Given the description of an element on the screen output the (x, y) to click on. 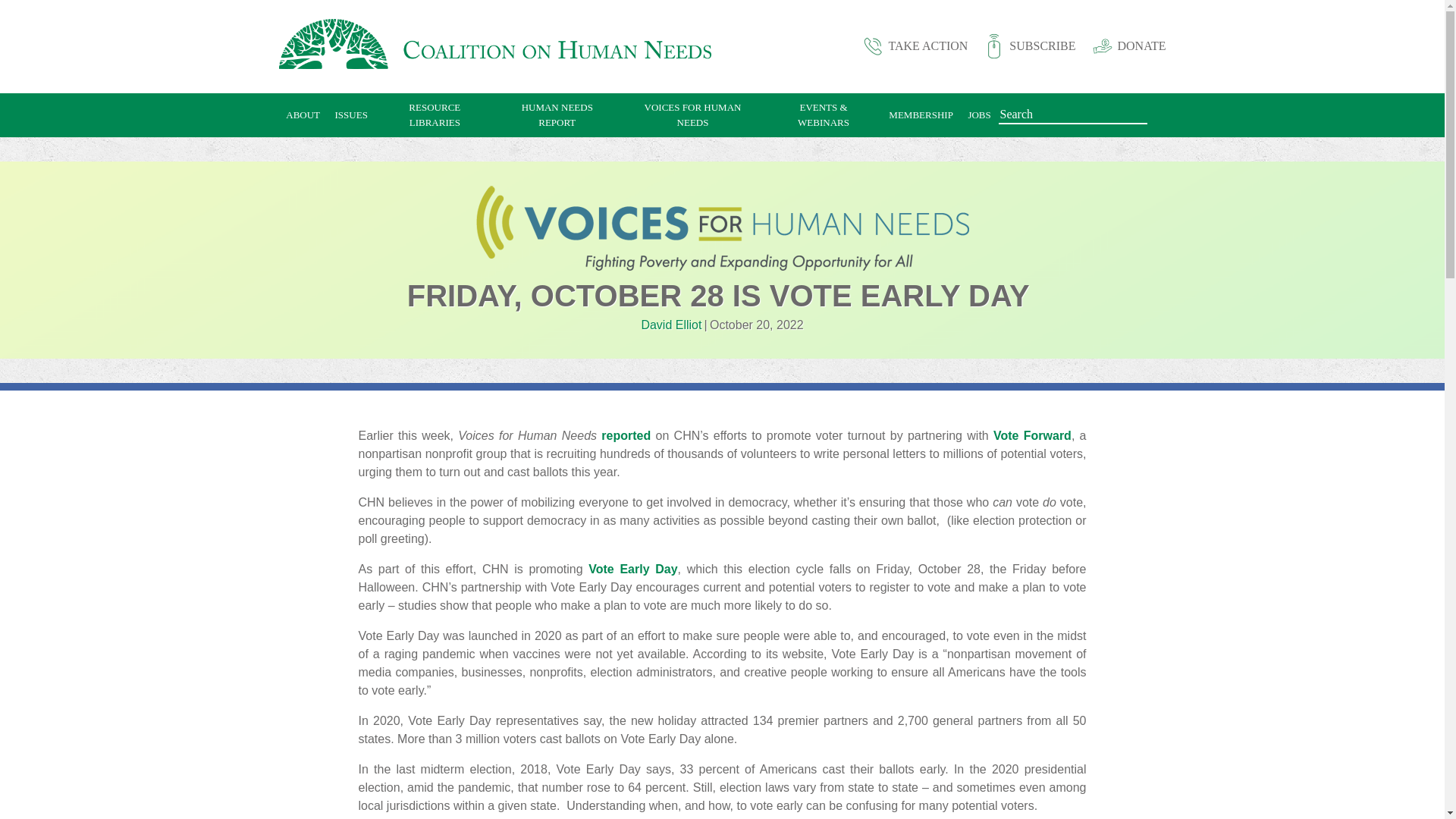
HUMAN NEEDS REPORT (557, 115)
Vote Early Day (632, 568)
ISSUES (351, 115)
RESOURCE LIBRARIES (435, 115)
ABOUT (303, 115)
Vote Forward (1031, 435)
reported (625, 435)
MEMBERSHIP (921, 115)
Posts by David Elliot (670, 324)
VOICES FOR HUMAN NEEDS (692, 115)
David Elliot (670, 324)
